Given the description of an element on the screen output the (x, y) to click on. 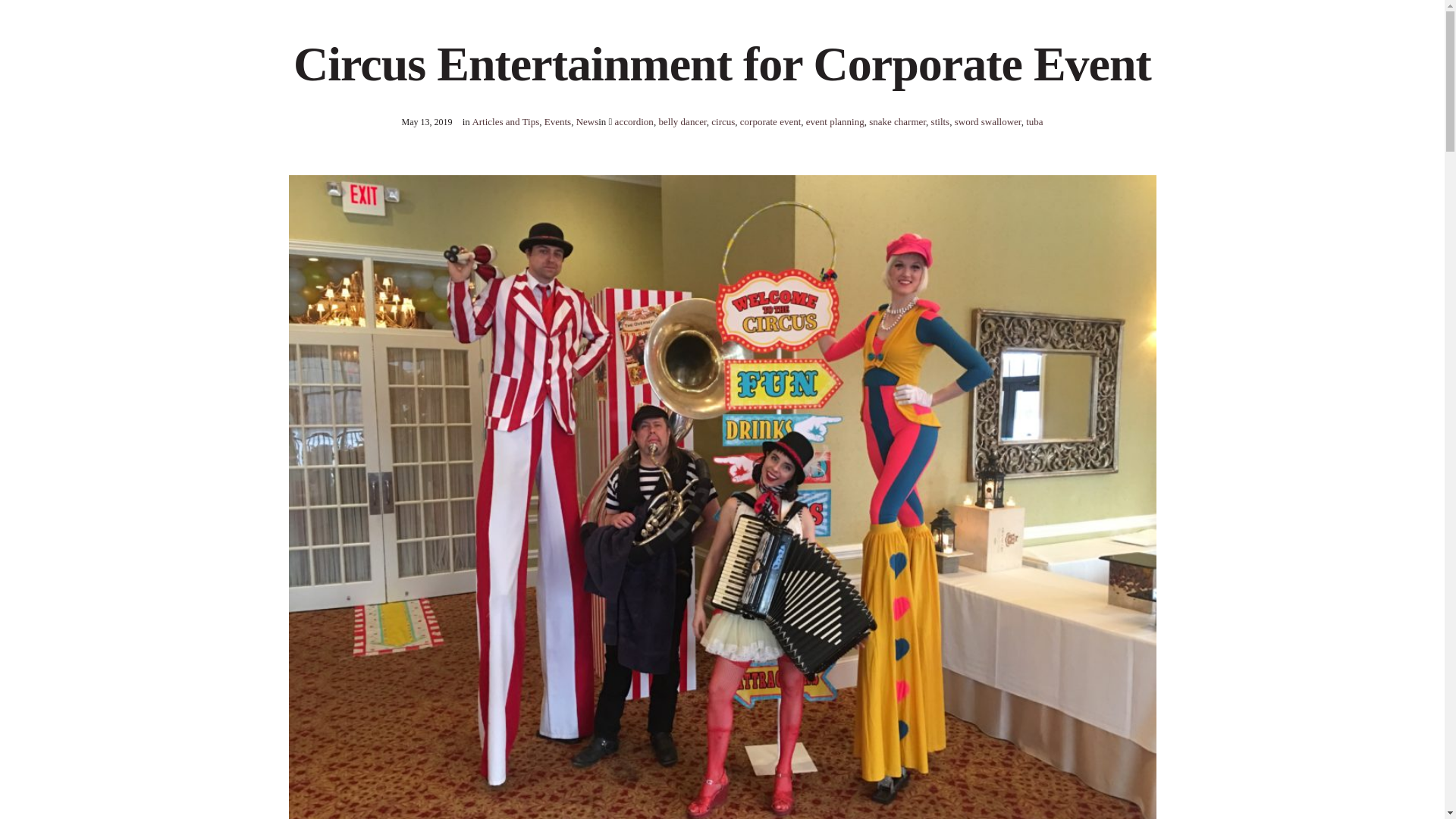
sword swallower (988, 121)
stilts (940, 121)
accordion (633, 121)
snake charmer (897, 121)
circus (723, 121)
News (587, 121)
corporate event (769, 121)
tuba (1034, 121)
Events (557, 121)
Articles and Tips (504, 121)
